Given the description of an element on the screen output the (x, y) to click on. 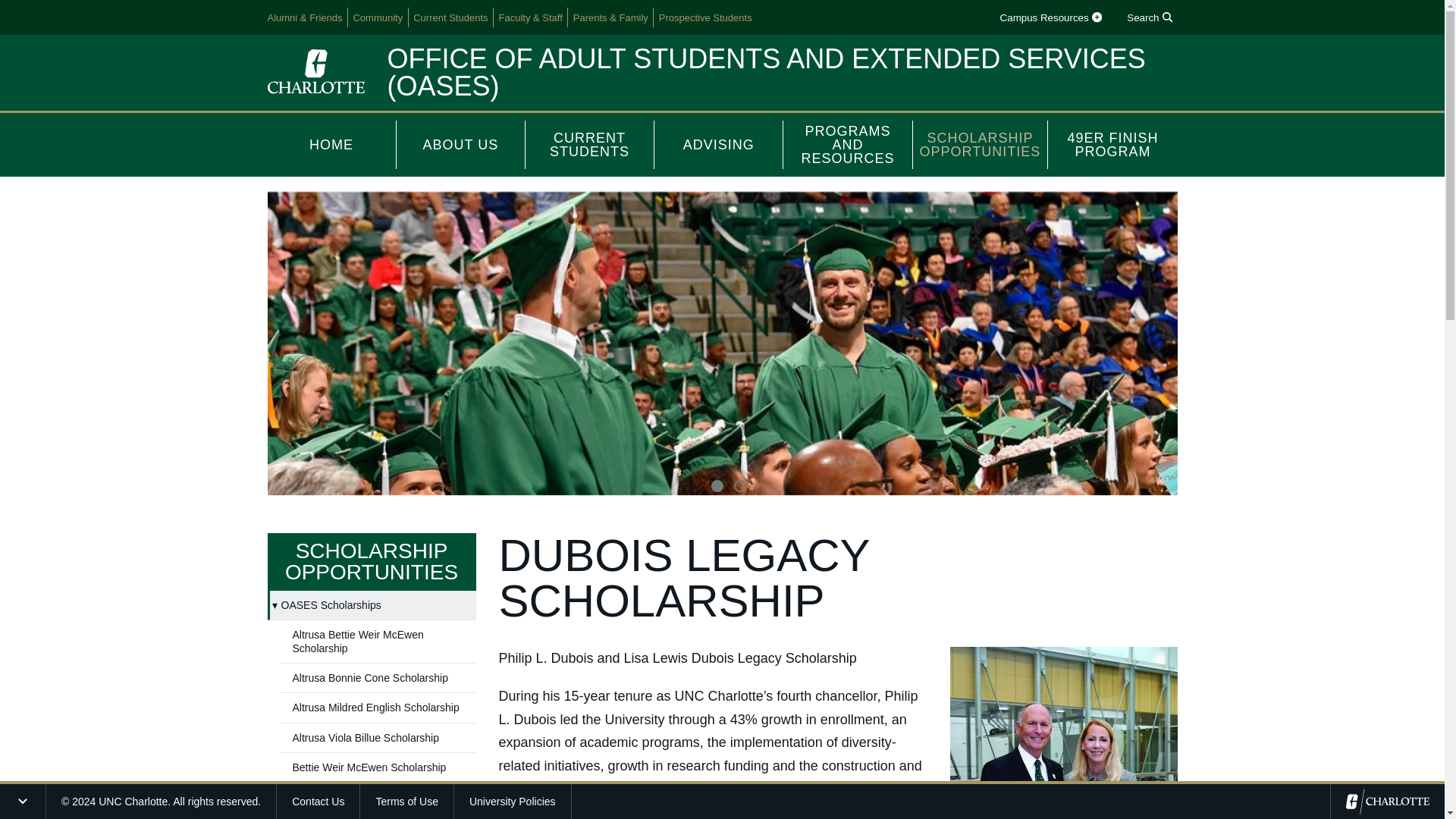
Community (378, 17)
HOME (331, 144)
Prospective Students (705, 17)
Search (1149, 16)
ABOUT US (460, 144)
Campus Resources (1050, 16)
Current Students (451, 17)
